Given the description of an element on the screen output the (x, y) to click on. 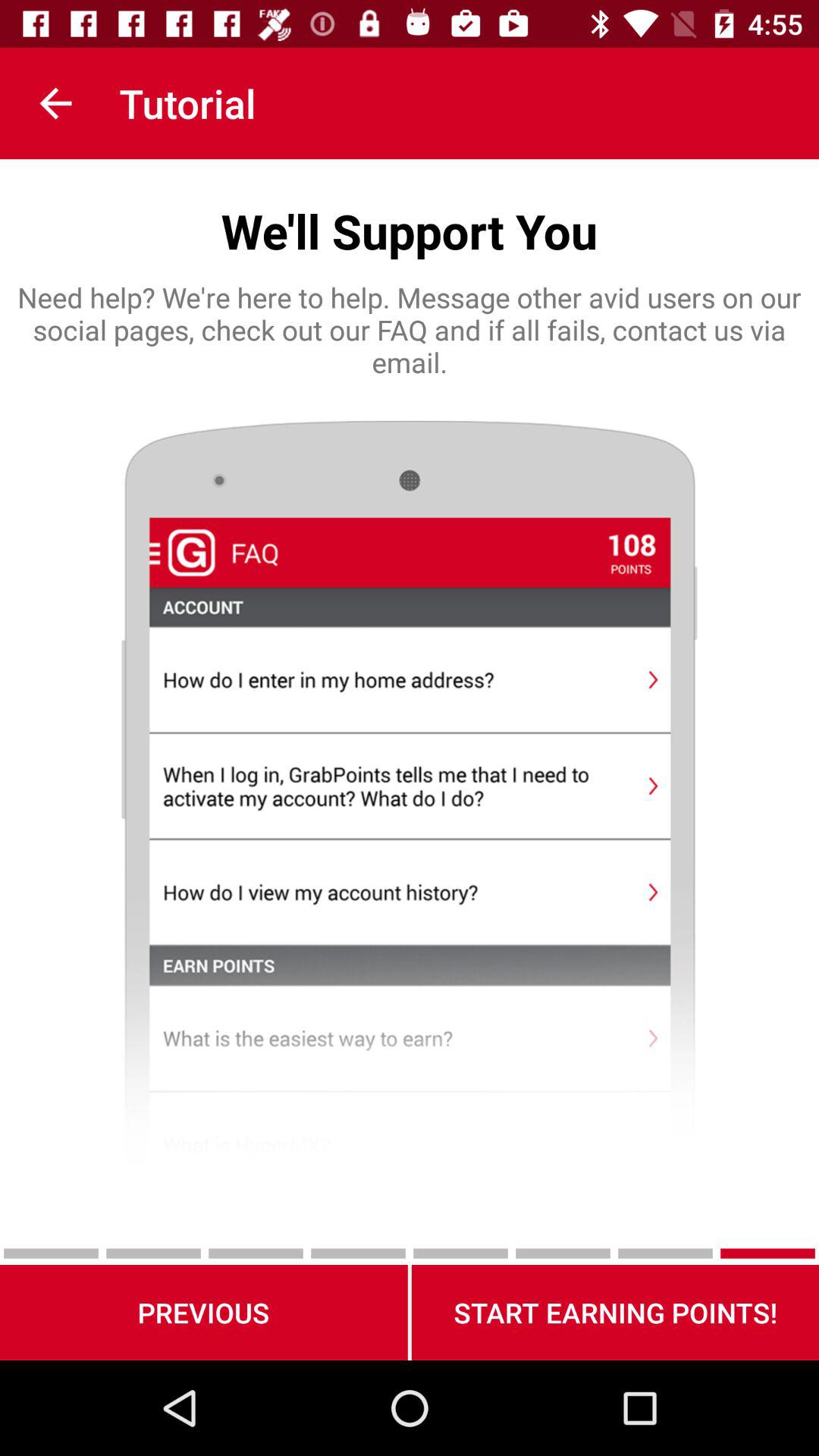
open the icon next to tutorial item (55, 103)
